Given the description of an element on the screen output the (x, y) to click on. 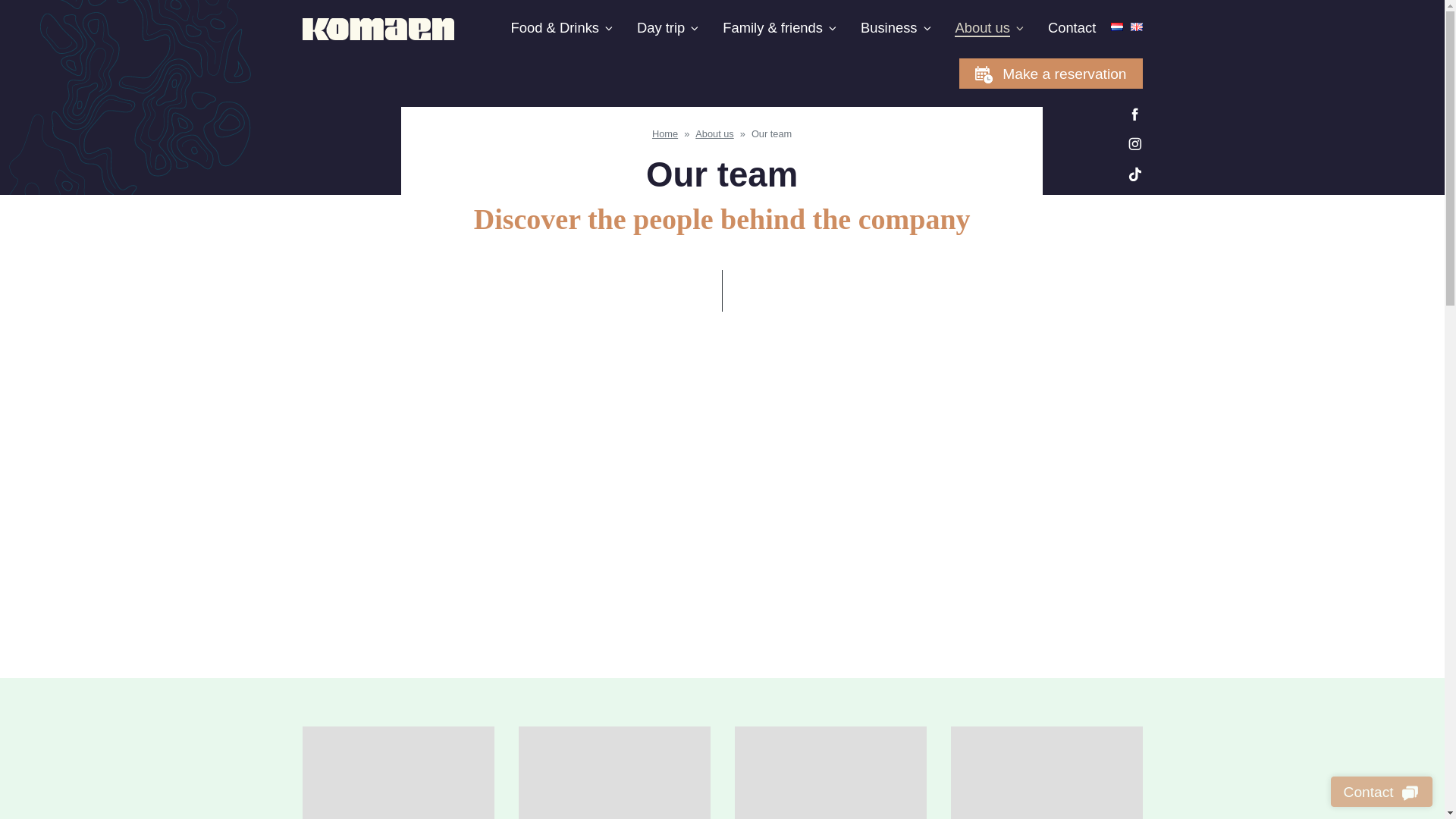
Contact (1072, 27)
About us (714, 133)
Home (665, 133)
Business (896, 27)
About us (990, 27)
Day trip (668, 27)
